Given the description of an element on the screen output the (x, y) to click on. 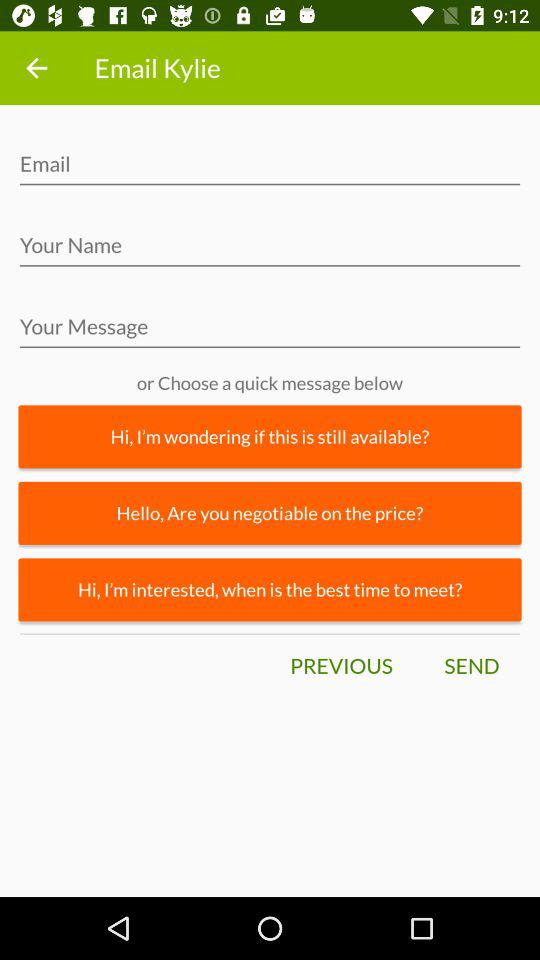
jump until the previous (341, 666)
